Given the description of an element on the screen output the (x, y) to click on. 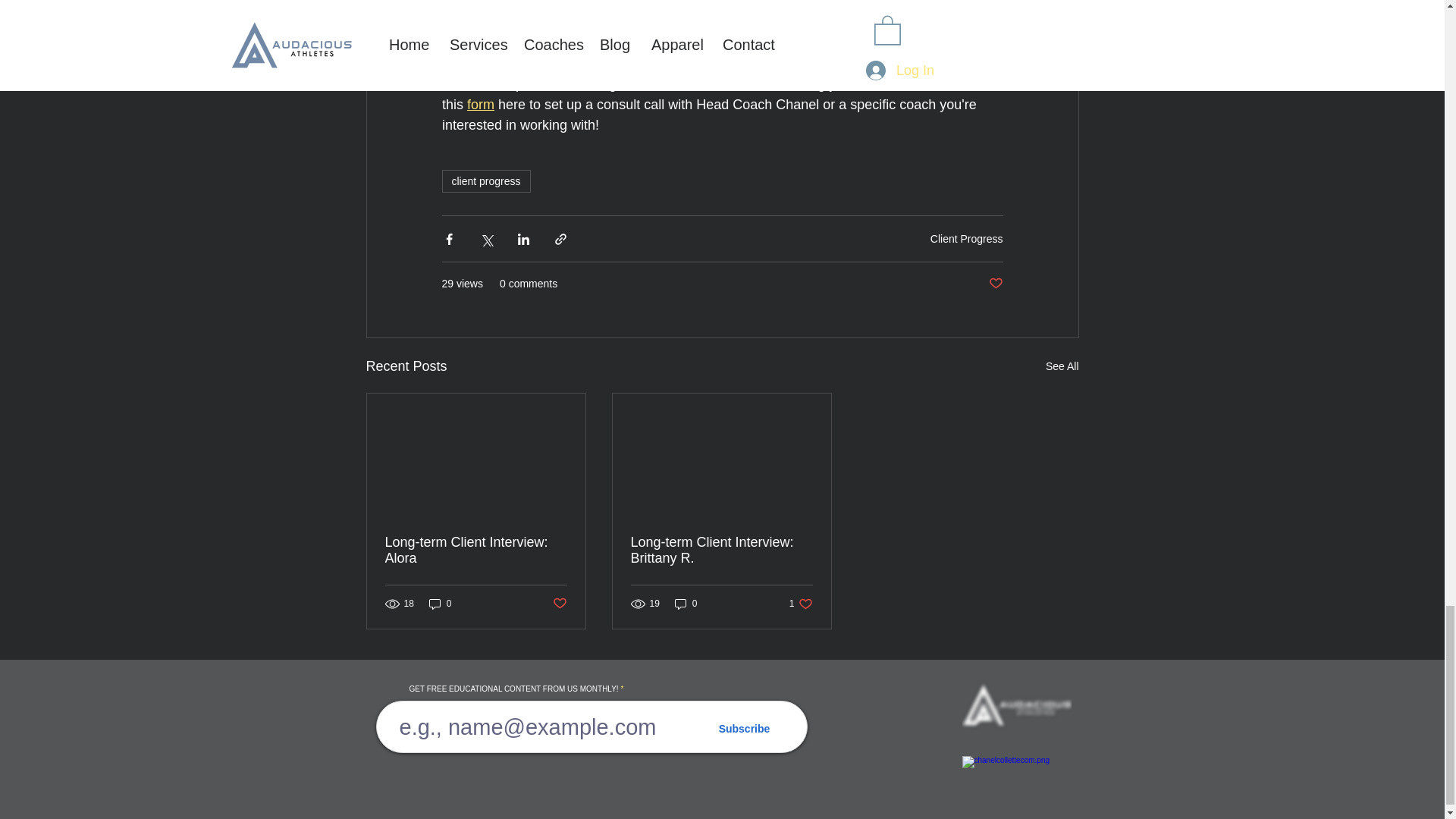
Client Progress (966, 238)
Instagram (768, 62)
Post not marked as liked (995, 283)
client progress (485, 180)
See All (1061, 366)
form (481, 103)
Long-term Client Interview: Alora (476, 550)
